Given the description of an element on the screen output the (x, y) to click on. 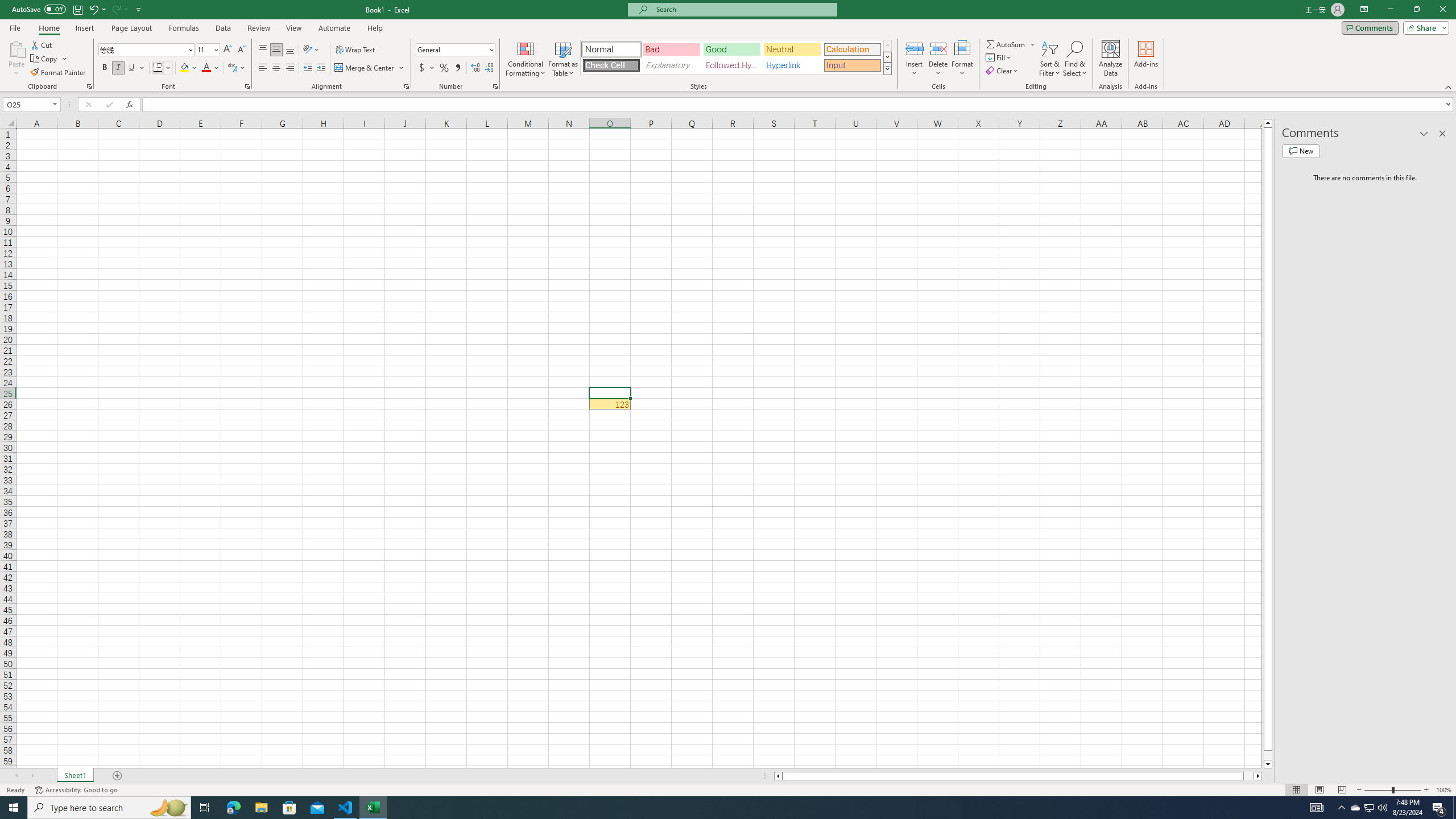
Accounting Number Format (426, 67)
Decrease Indent (307, 67)
Wrap Text (355, 49)
Format Cell Font (247, 85)
Check Cell (611, 65)
Center (276, 67)
Bottom Align (290, 49)
